Given the description of an element on the screen output the (x, y) to click on. 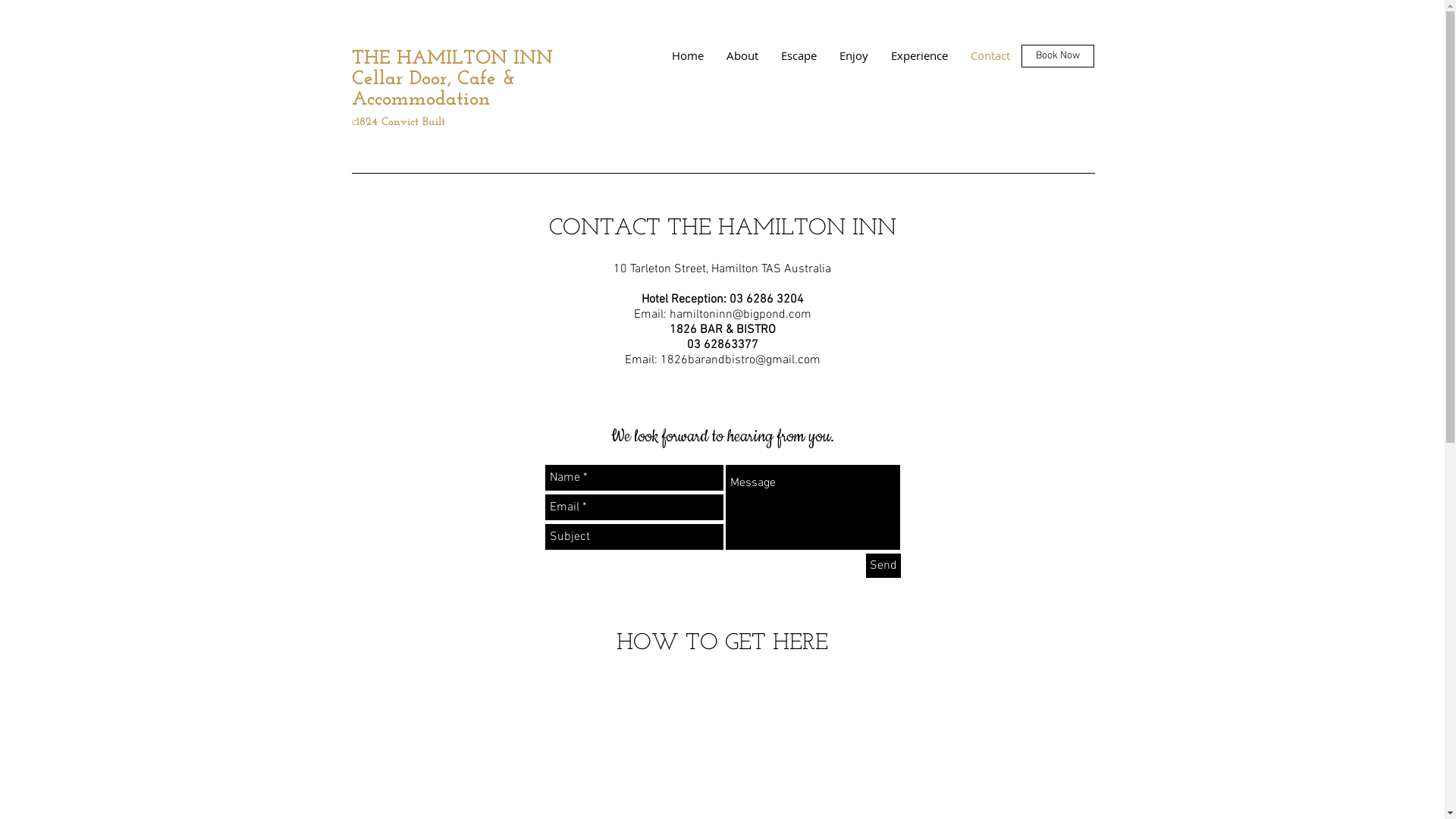
About Element type: text (741, 55)
THE HAMILTON INN Element type: text (451, 58)
Contact Element type: text (989, 55)
1826barandbistro@gmail.com Element type: text (739, 359)
Experience Element type: text (919, 55)
Escape Element type: text (797, 55)
Enjoy Element type: text (853, 55)
Book Now Element type: text (1056, 55)
Home Element type: text (686, 55)
hamiltoninn@bigpond.com Element type: text (739, 314)
Send Element type: text (883, 565)
